Given the description of an element on the screen output the (x, y) to click on. 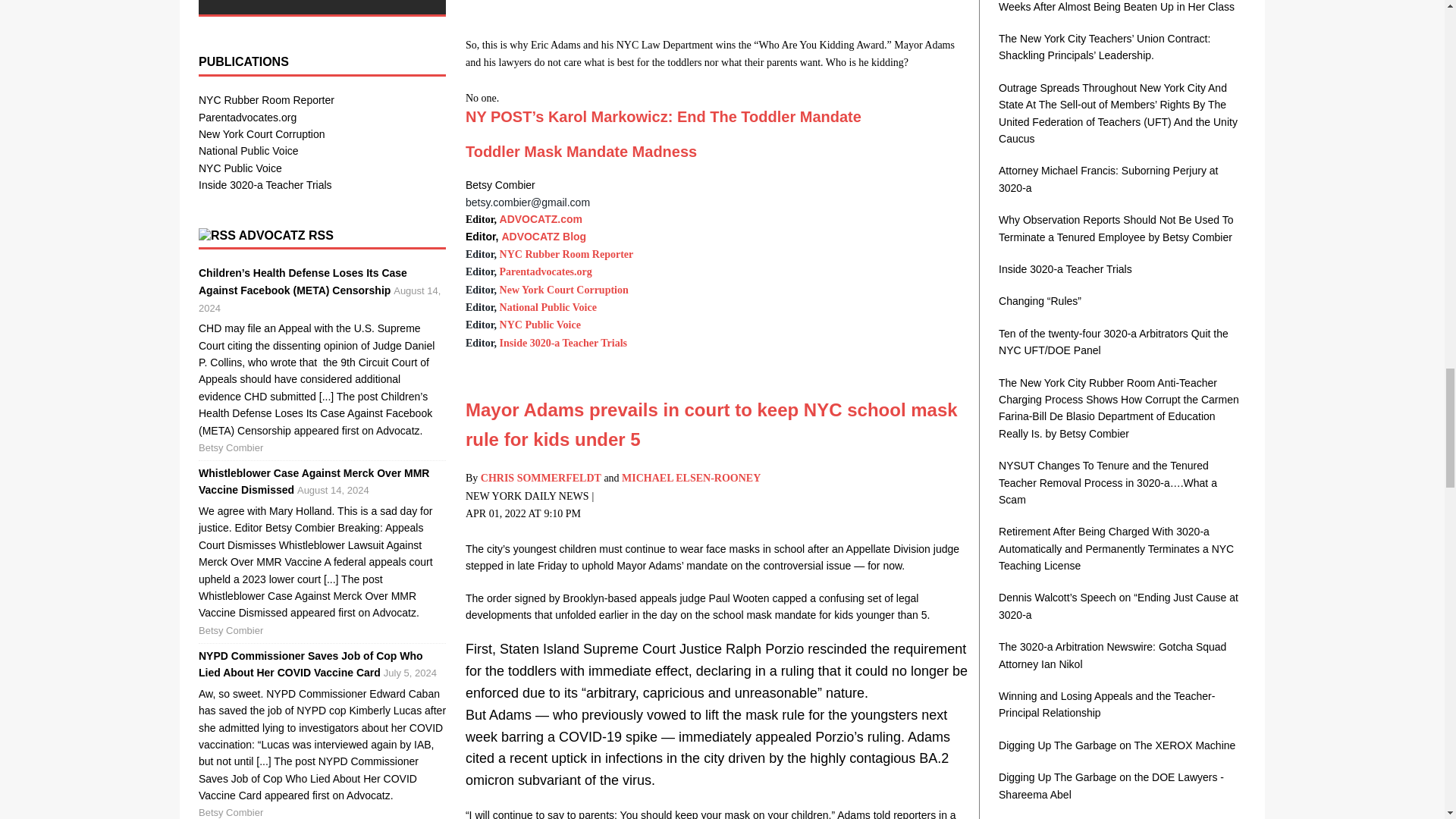
ADVOCATZ Blog (543, 236)
Toddler Mask Mandate Madness (581, 151)
ADVOCATZ.com (540, 218)
